Given the description of an element on the screen output the (x, y) to click on. 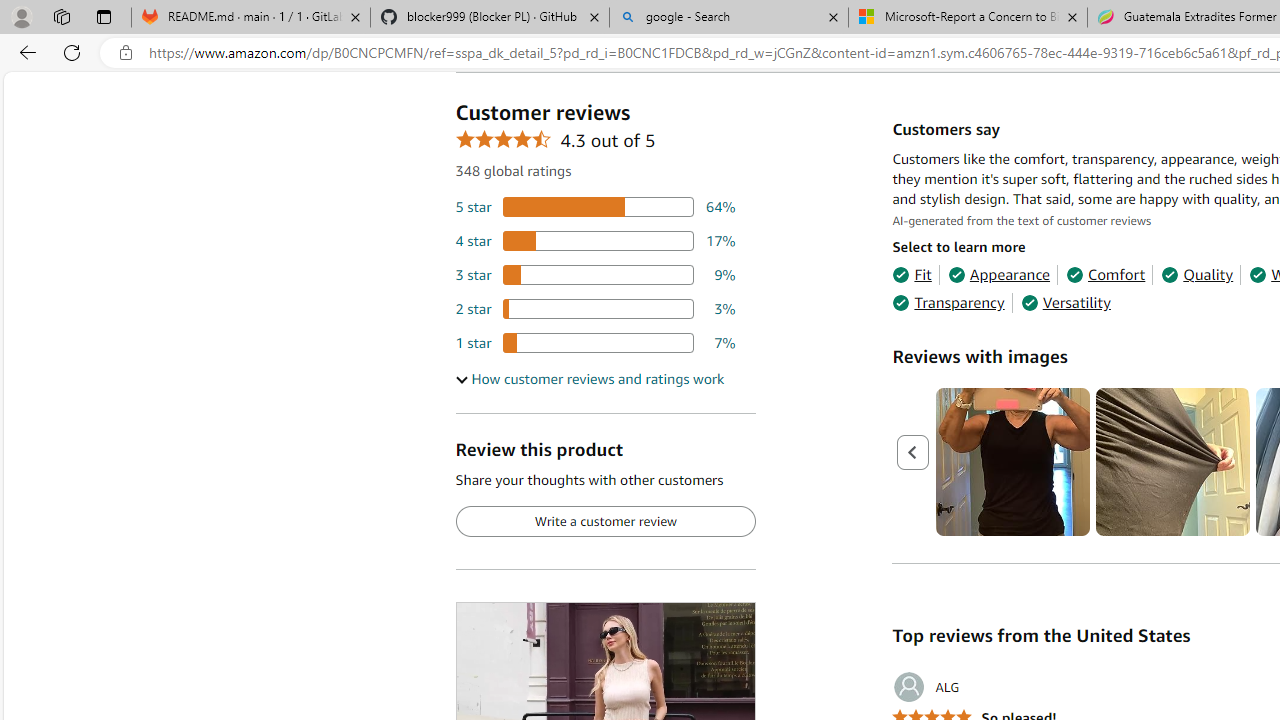
Appearance (998, 274)
Fit (911, 274)
ALG (926, 687)
Class: a-carousel-card (1173, 462)
7 percent of reviews have 1 stars (595, 343)
Write a customer review (605, 521)
Previous page (913, 452)
Transparency (948, 303)
17 percent of reviews have 4 stars (595, 241)
